Given the description of an element on the screen output the (x, y) to click on. 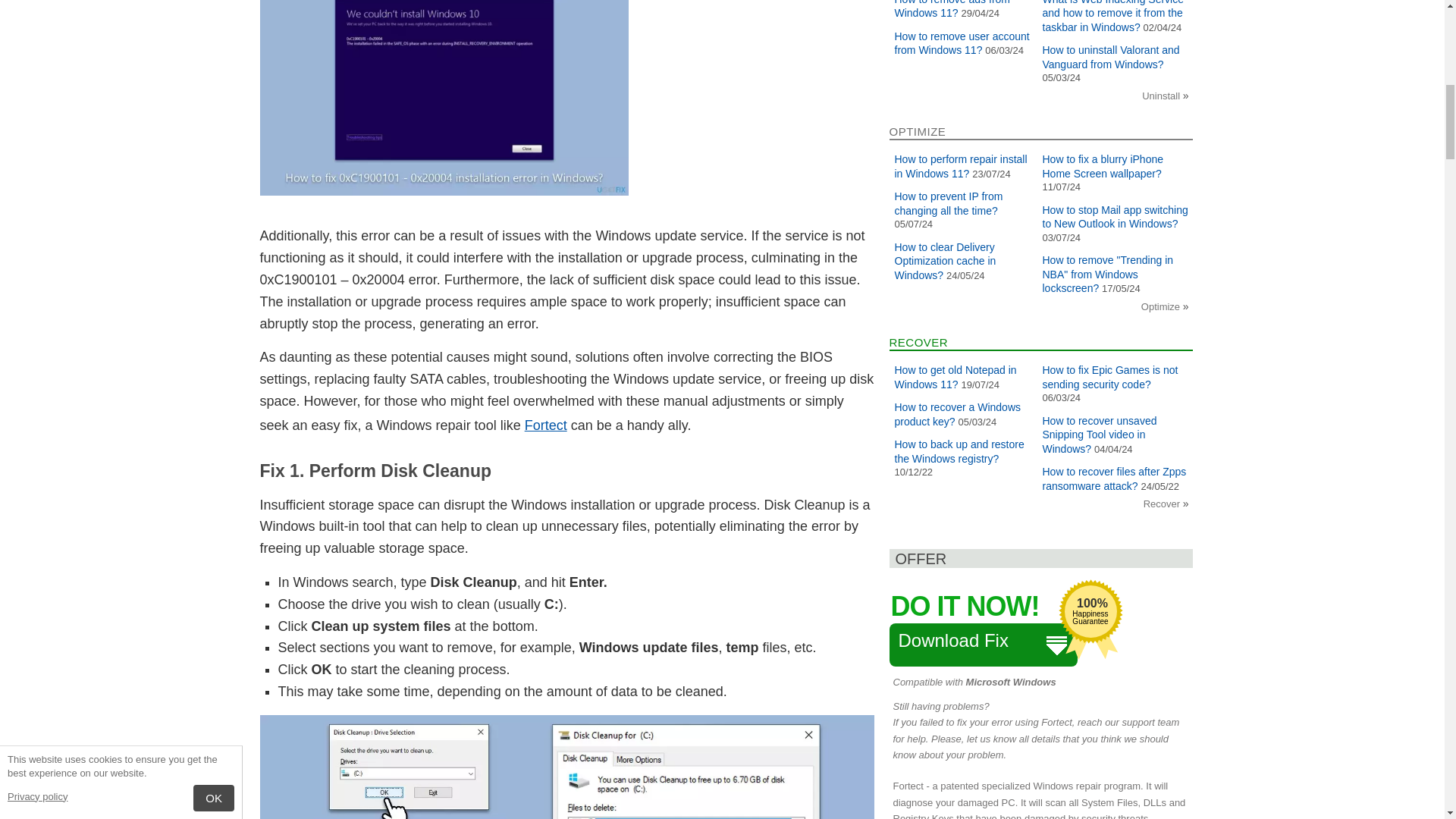
Fortect (545, 425)
Clean disk (566, 766)
